Given the description of an element on the screen output the (x, y) to click on. 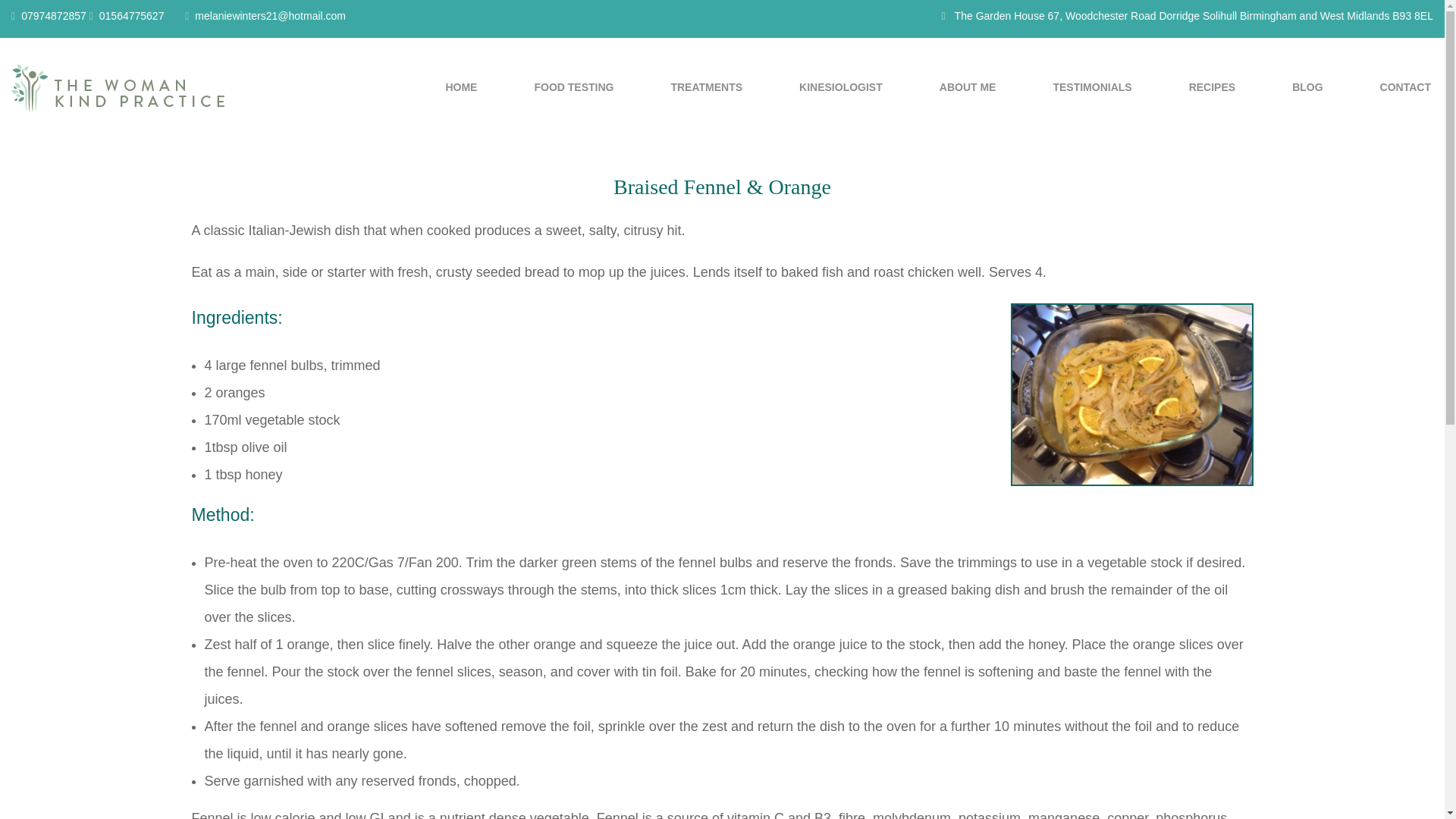
CONTACT (1405, 87)
RECIPES (1211, 87)
East Coast Swimmers (117, 87)
FOOD TESTING (573, 87)
ABOUT ME (967, 87)
BLOG (1307, 87)
KINESIOLOGIST (840, 87)
HOME (461, 87)
TREATMENTS (705, 87)
TESTIMONIALS (1091, 87)
